Given the description of an element on the screen output the (x, y) to click on. 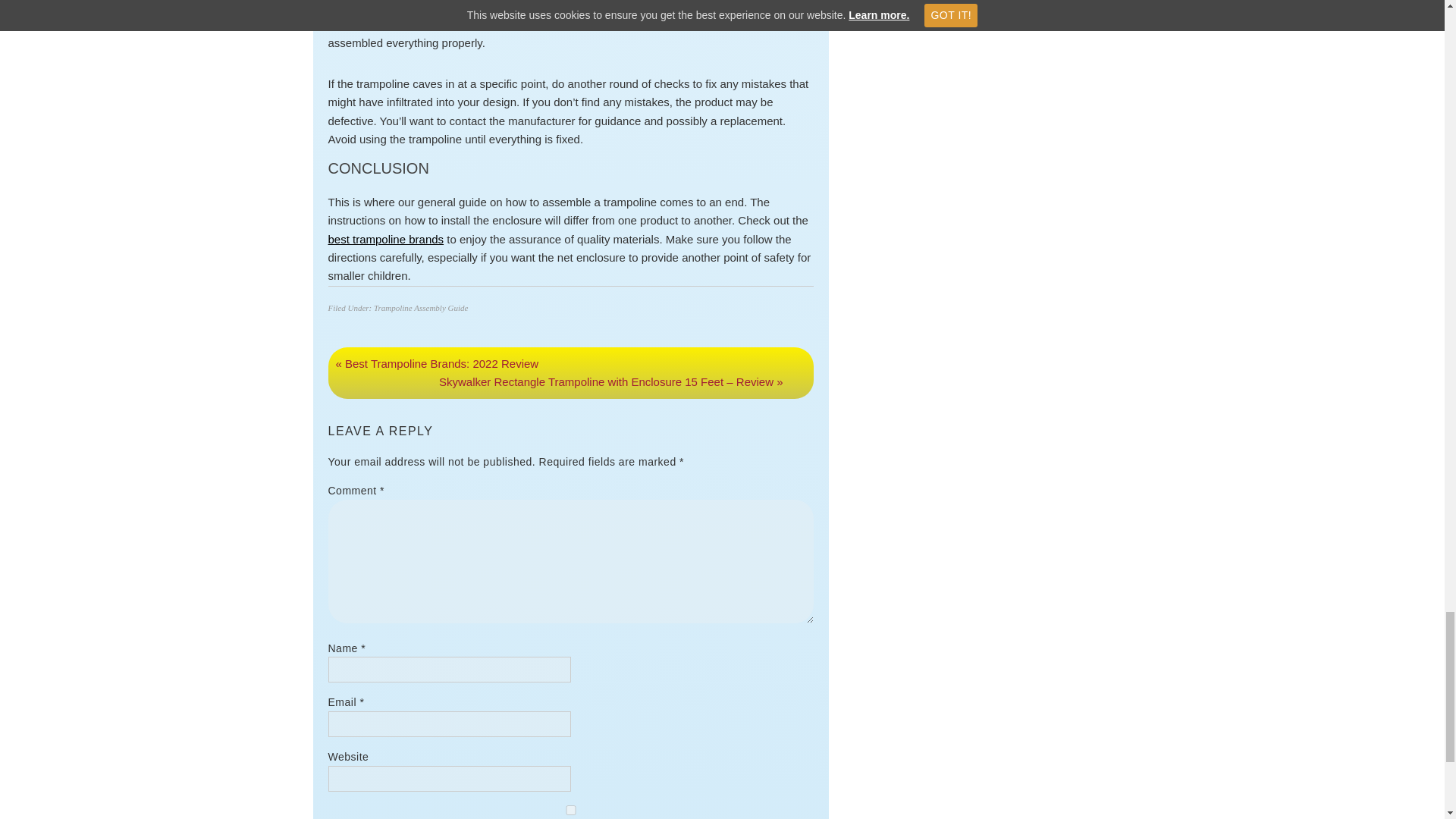
Trampoline Assembly Guide (420, 307)
yes (569, 809)
best trampoline brands (385, 238)
